Given the description of an element on the screen output the (x, y) to click on. 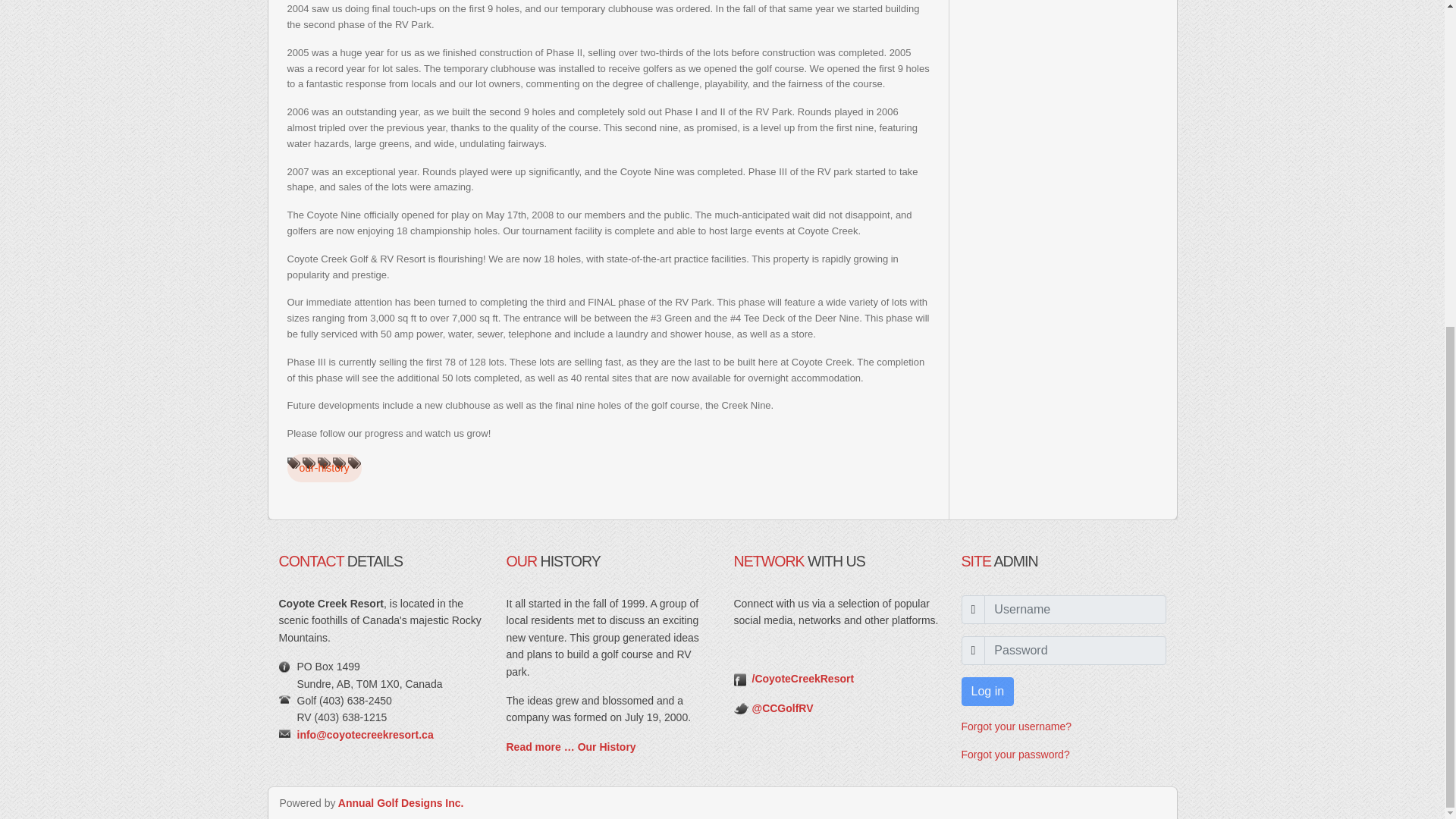
our-history (323, 468)
Log in (987, 691)
